Given the description of an element on the screen output the (x, y) to click on. 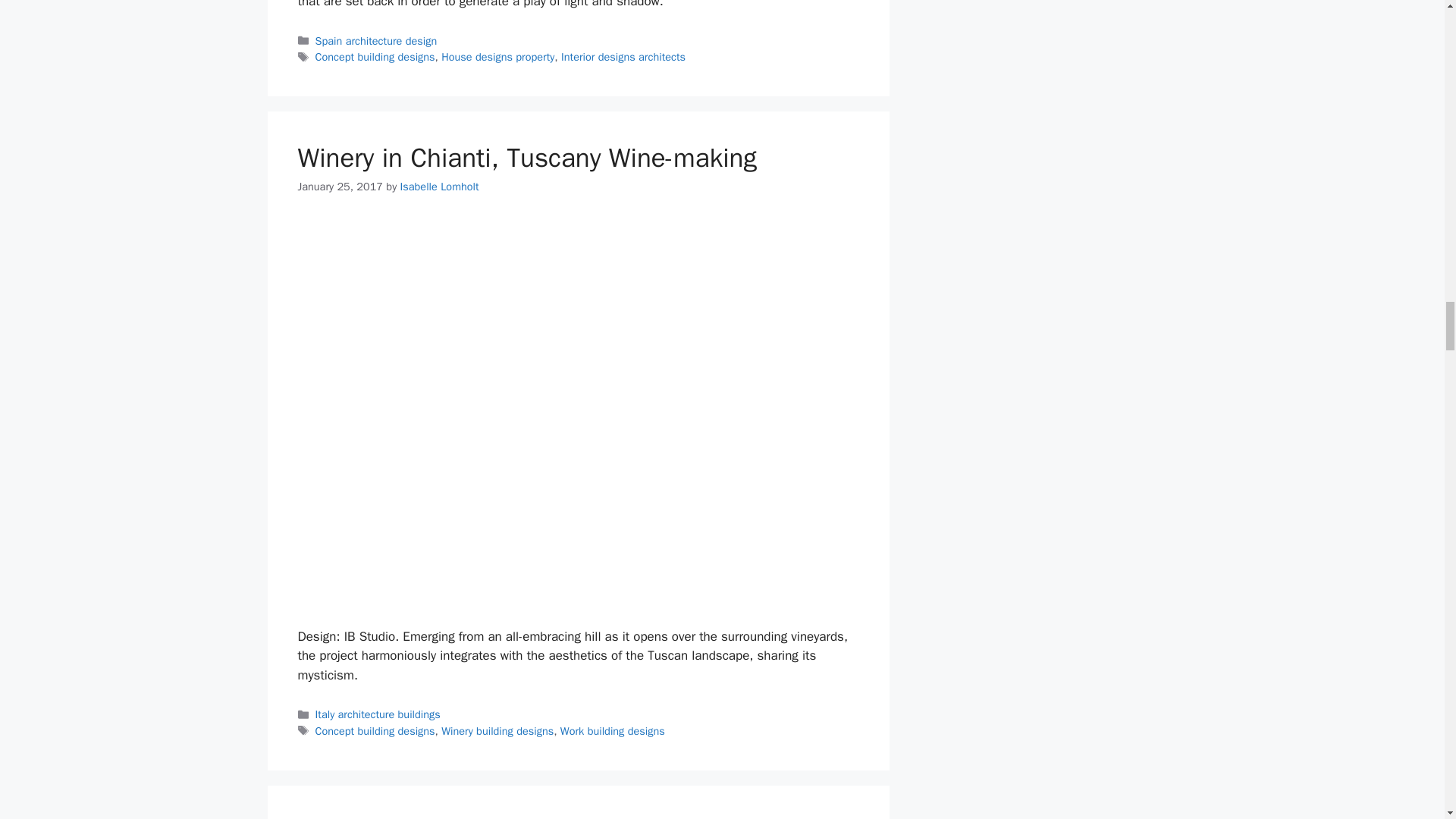
View all posts by Isabelle Lomholt (439, 186)
